Given the description of an element on the screen output the (x, y) to click on. 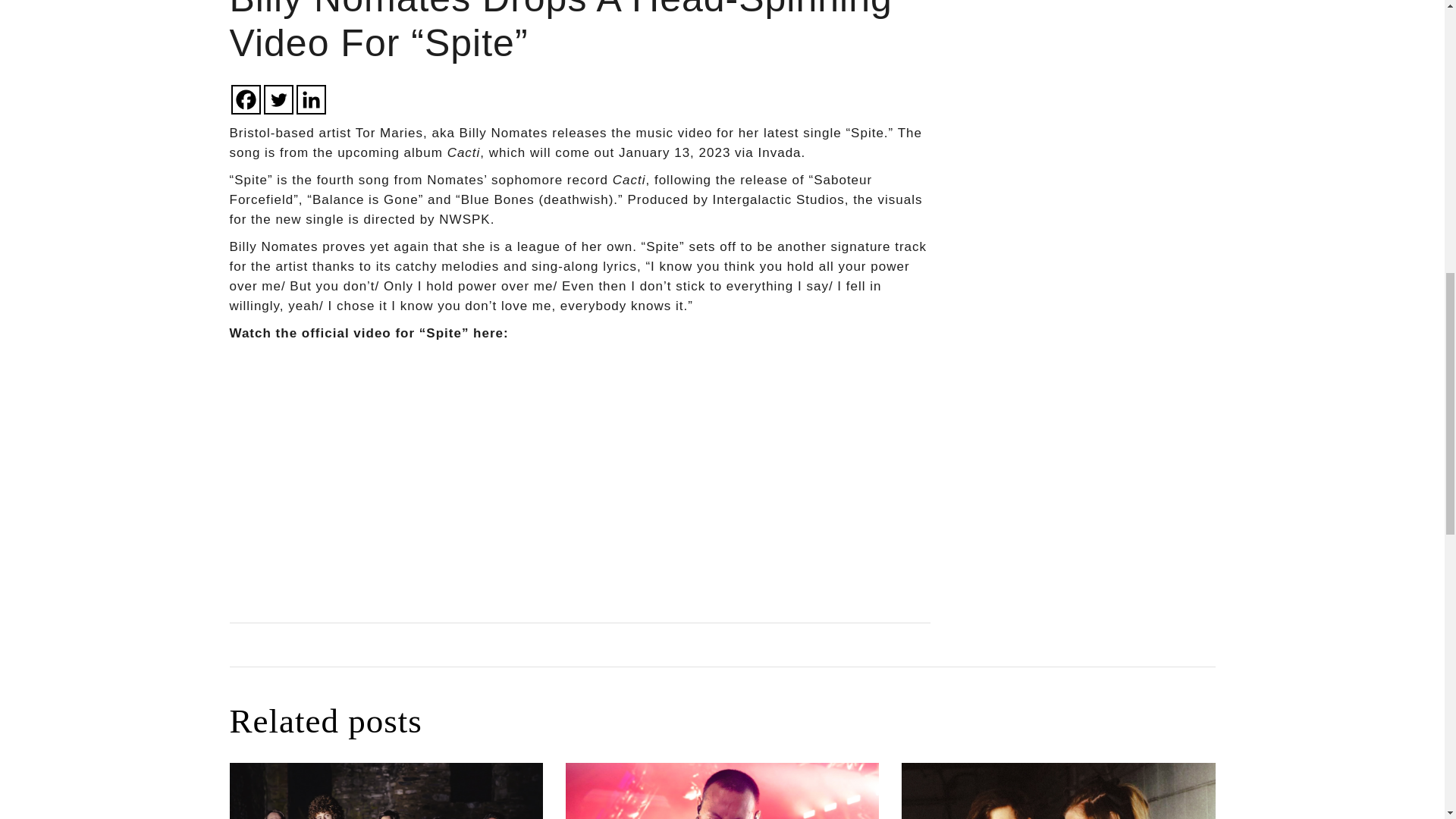
YouTube video player (440, 470)
Linkedin (309, 99)
Facebook (245, 99)
Twitter (278, 99)
